Given the description of an element on the screen output the (x, y) to click on. 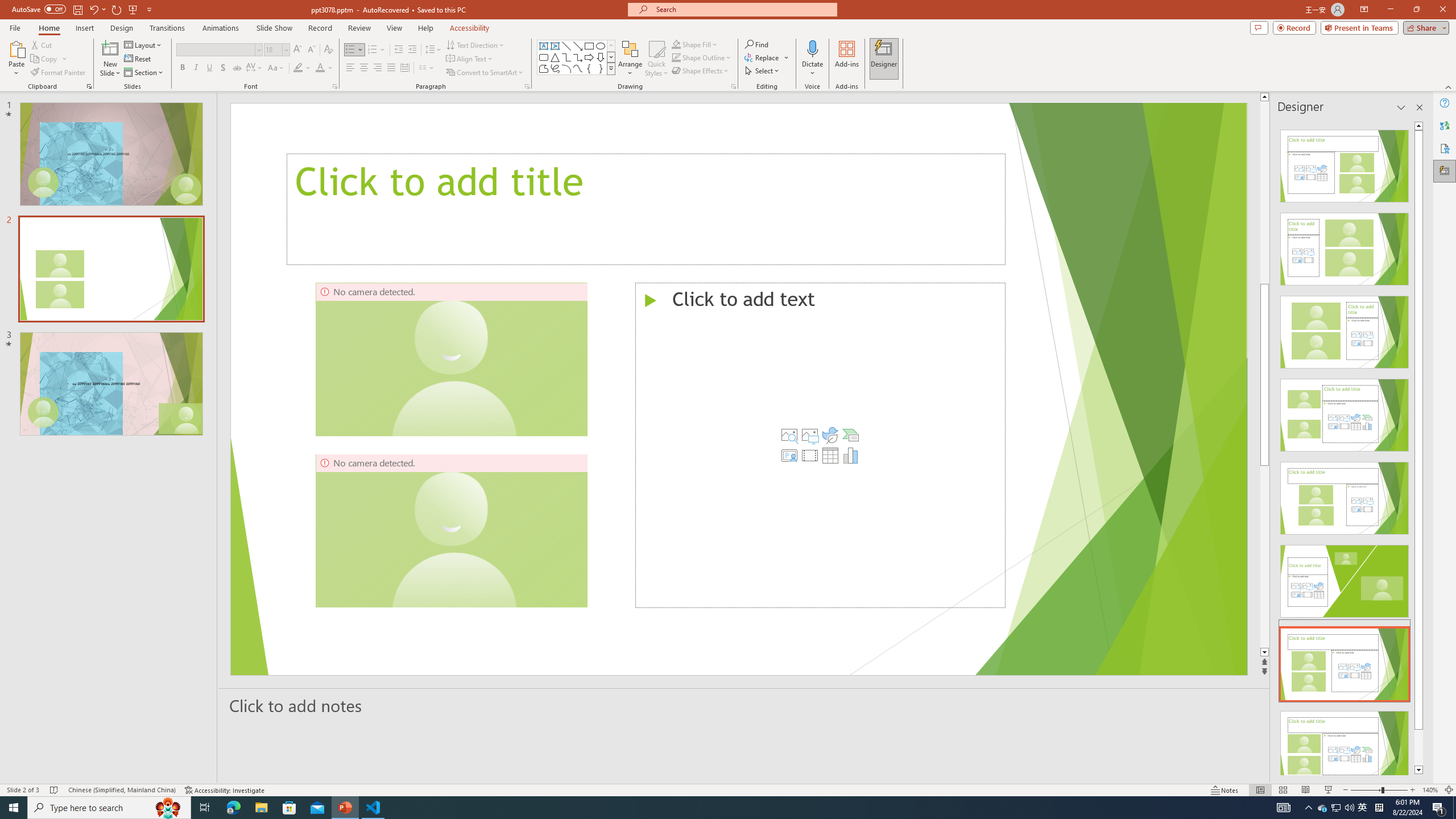
Zoom 140% (1430, 790)
